Given the description of an element on the screen output the (x, y) to click on. 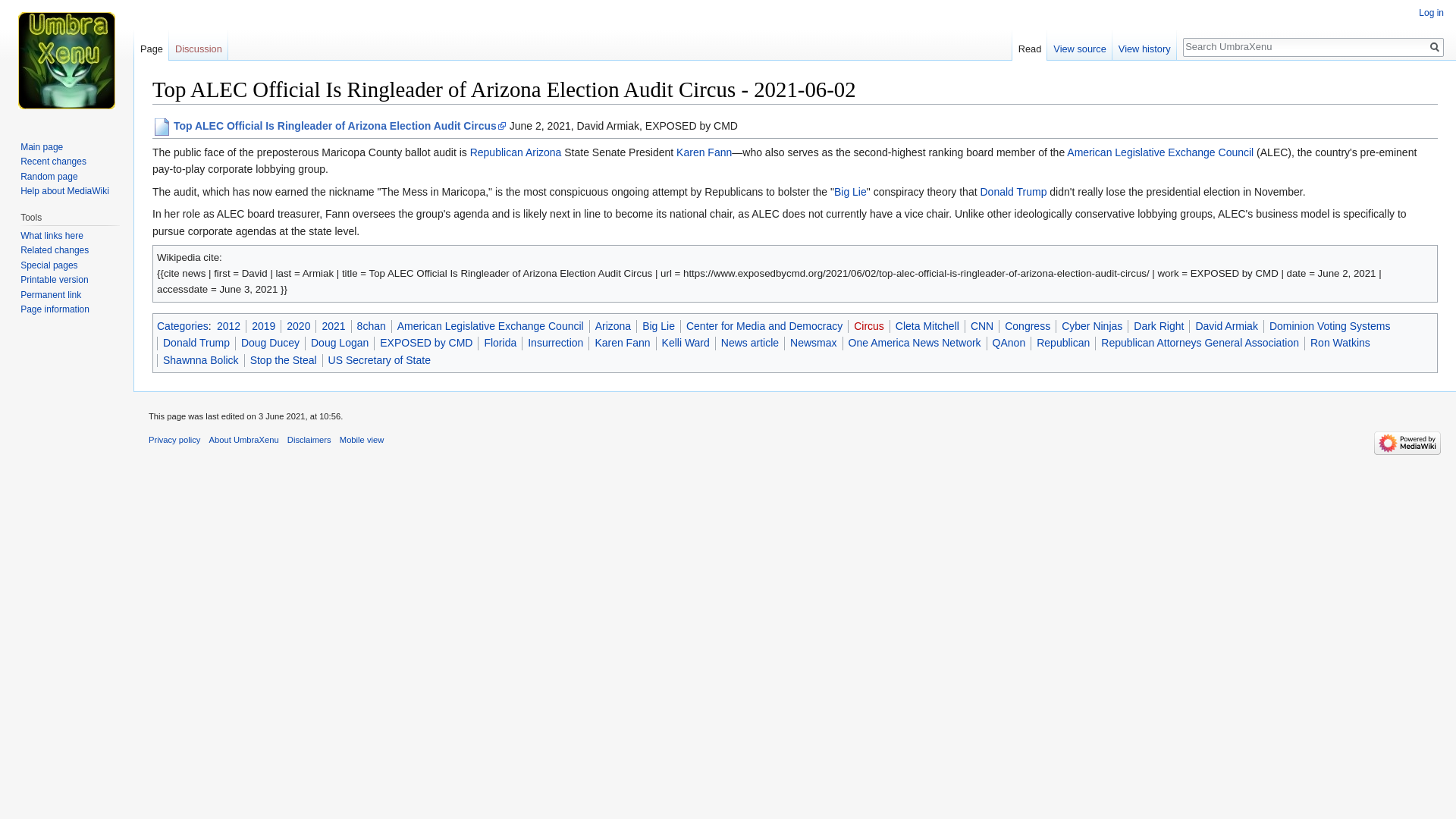
2012 (228, 326)
Cyber Ninjas (1091, 326)
Arizona (542, 152)
Categories (182, 326)
Republican (496, 152)
Doug Logan (339, 342)
Category:Cleta Mitchell (927, 326)
Doug Ducey (270, 342)
Kelli Ward (686, 342)
Category:Center for Media and Democracy (764, 326)
Category:Arizona (542, 152)
Dark Right (1158, 326)
Category:2019 (263, 326)
Category:Republican (496, 152)
Center for Media and Democracy (764, 326)
